Given the description of an element on the screen output the (x, y) to click on. 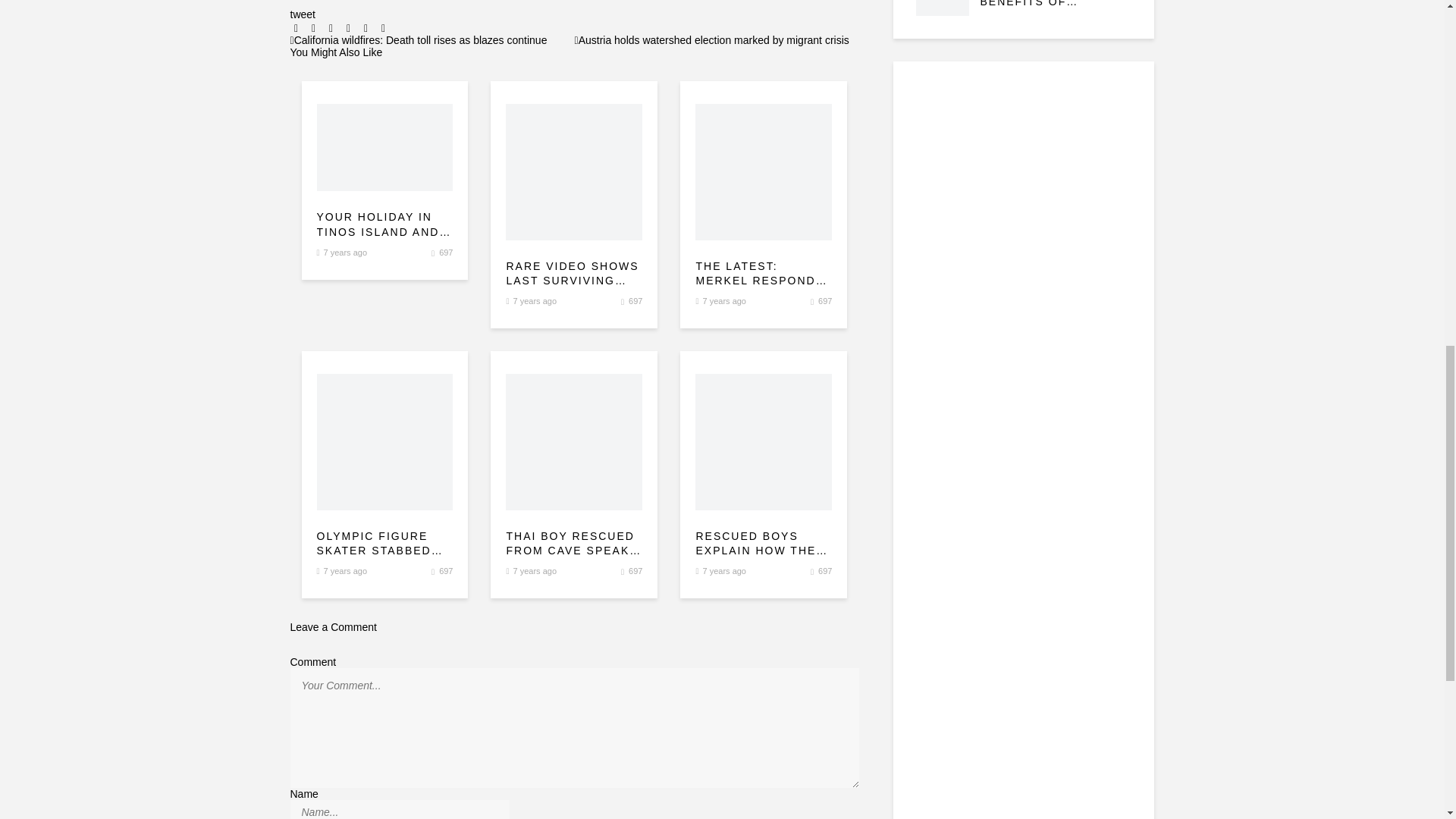
697 (635, 300)
RARE VIDEO SHOWS LAST SURVIVING MEMBER OF AMAZONIAN TRIBE (573, 274)
Austria holds watershed election marked by migrant crisis (711, 39)
Rare video shows last surviving member of Amazonian tribe (573, 274)
The Latest: Merkel responds to Trump jab on Montenegro (763, 274)
California wildfires: Death toll rises as blazes continue (418, 39)
tweet (301, 14)
YOUR HOLIDAY IN TINOS ISLAND AND WHERE TO STAY! (384, 224)
